Given the description of an element on the screen output the (x, y) to click on. 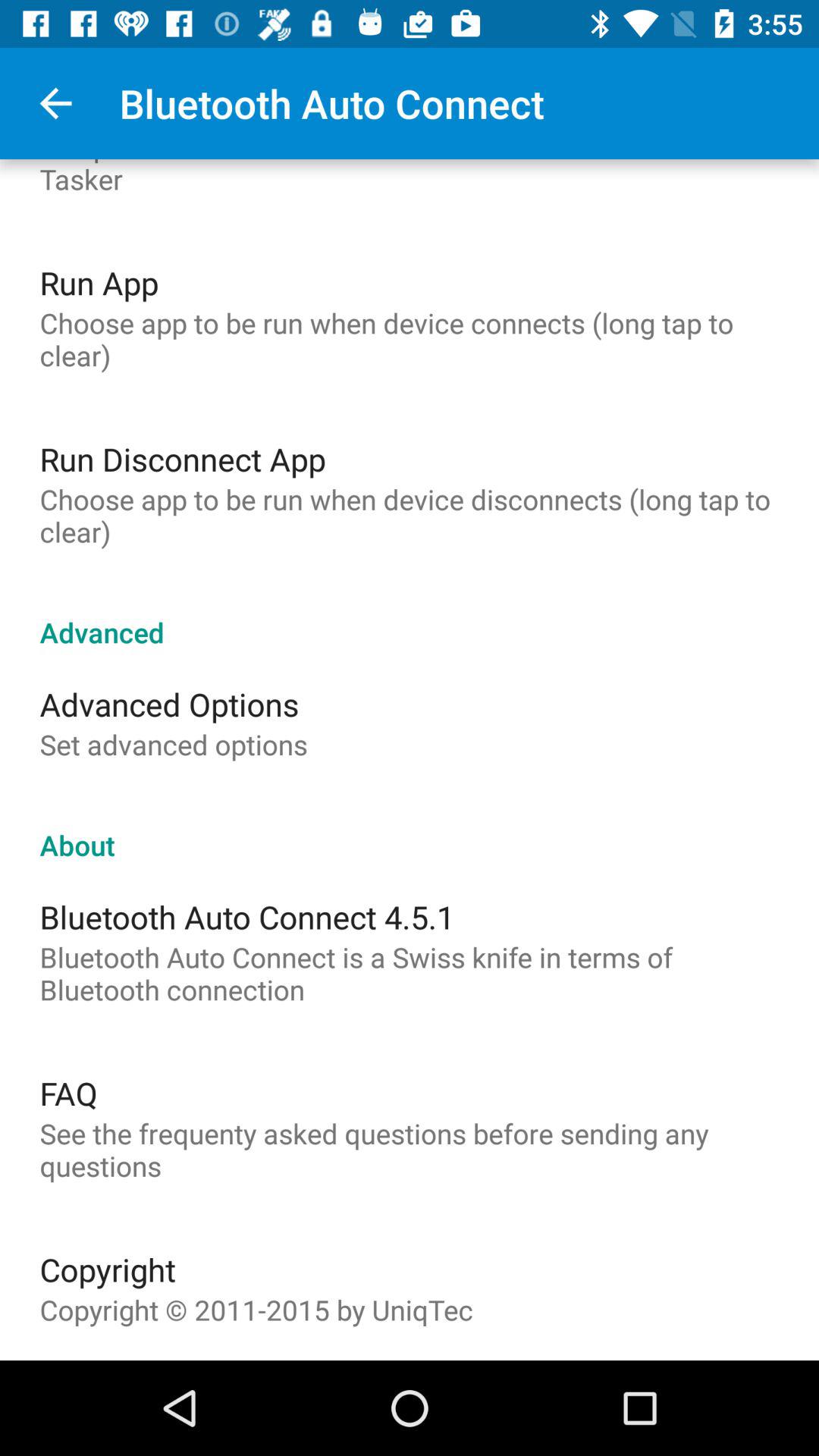
flip until the faq icon (68, 1092)
